Given the description of an element on the screen output the (x, y) to click on. 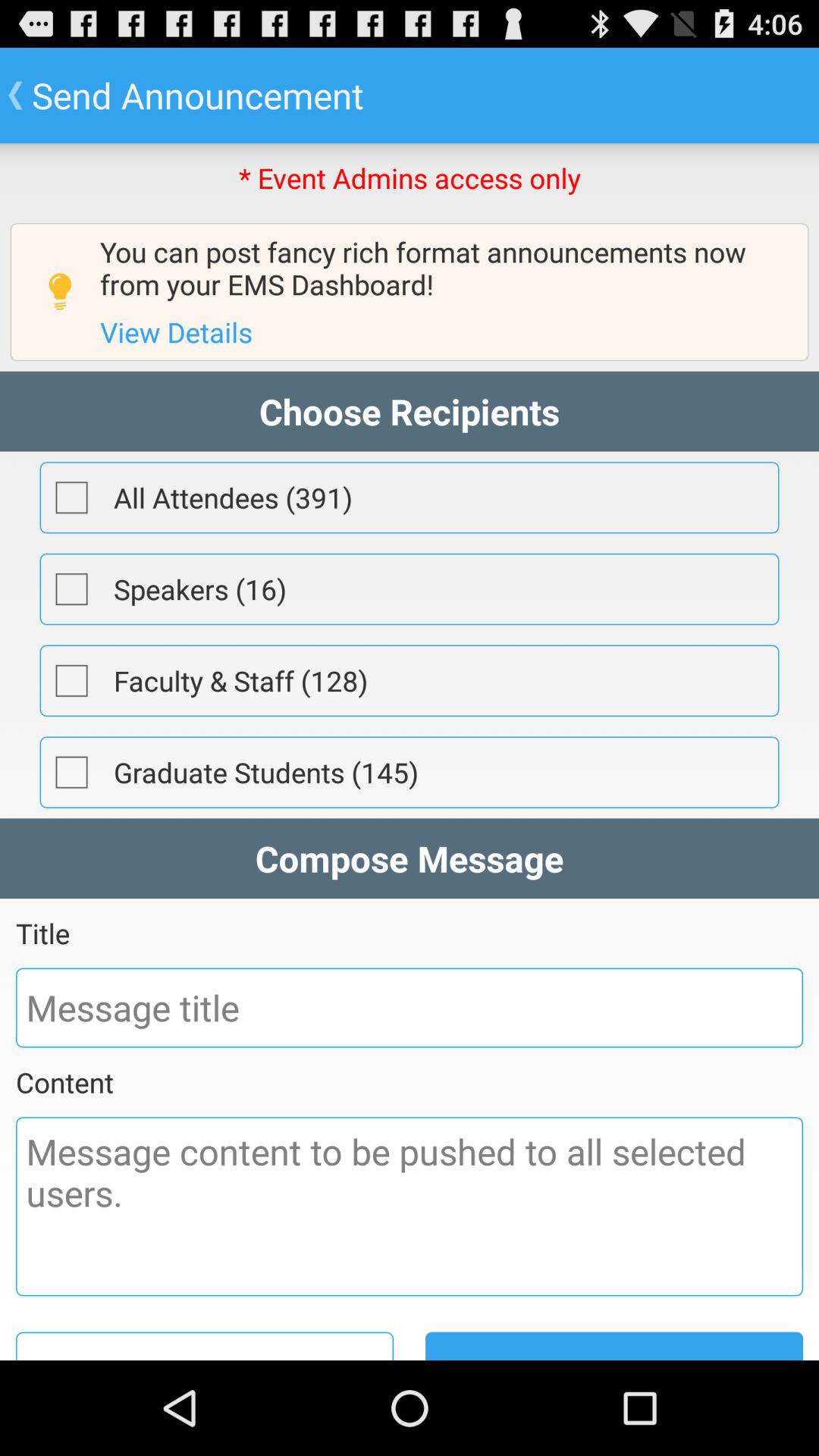
type out message (409, 1206)
